Given the description of an element on the screen output the (x, y) to click on. 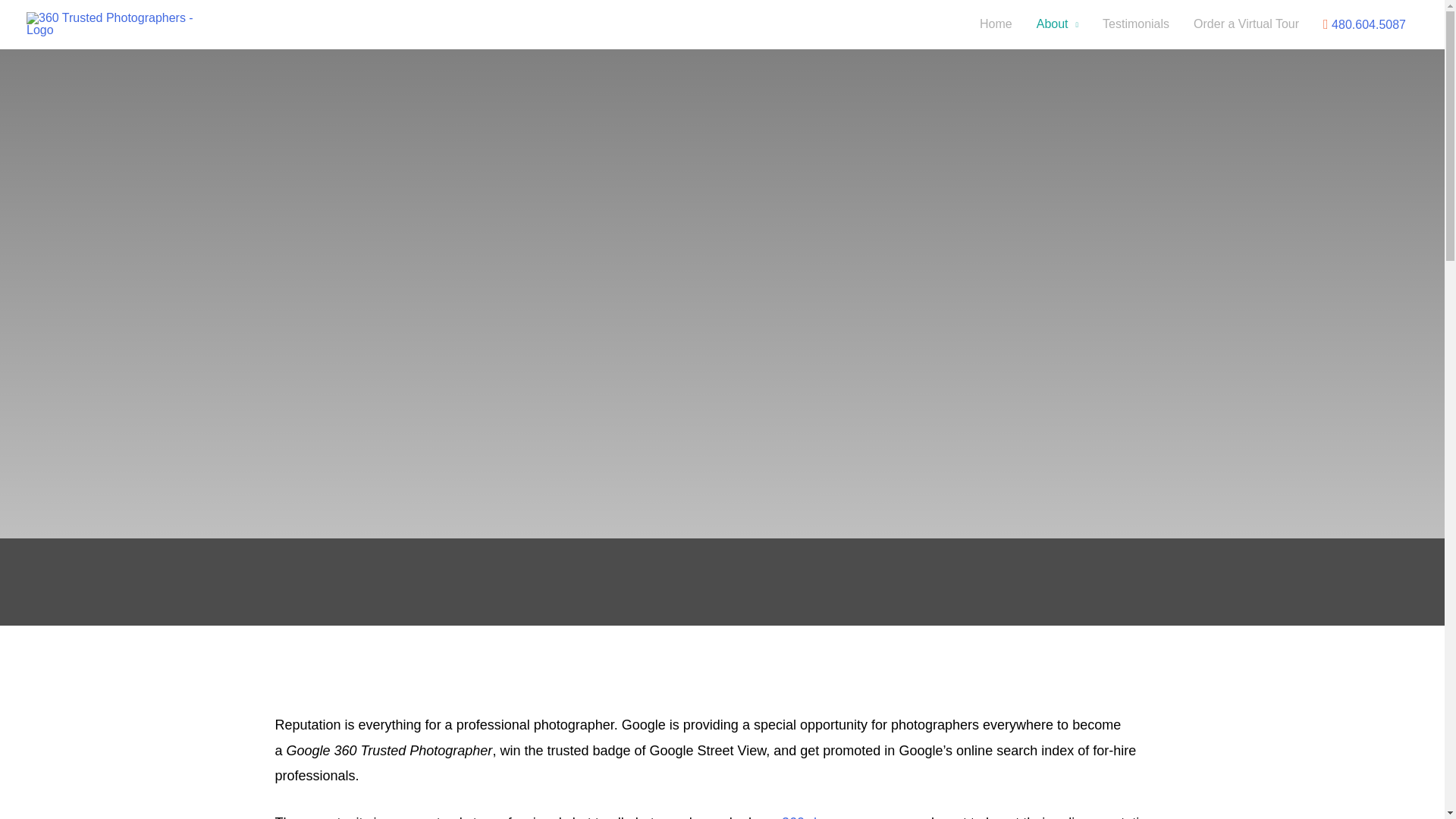
480.604.5087 (1364, 24)
360-degree cameras (844, 816)
Home (996, 24)
Order a Virtual Tour (1245, 24)
Testimonials (1135, 24)
About (1057, 24)
